Given the description of an element on the screen output the (x, y) to click on. 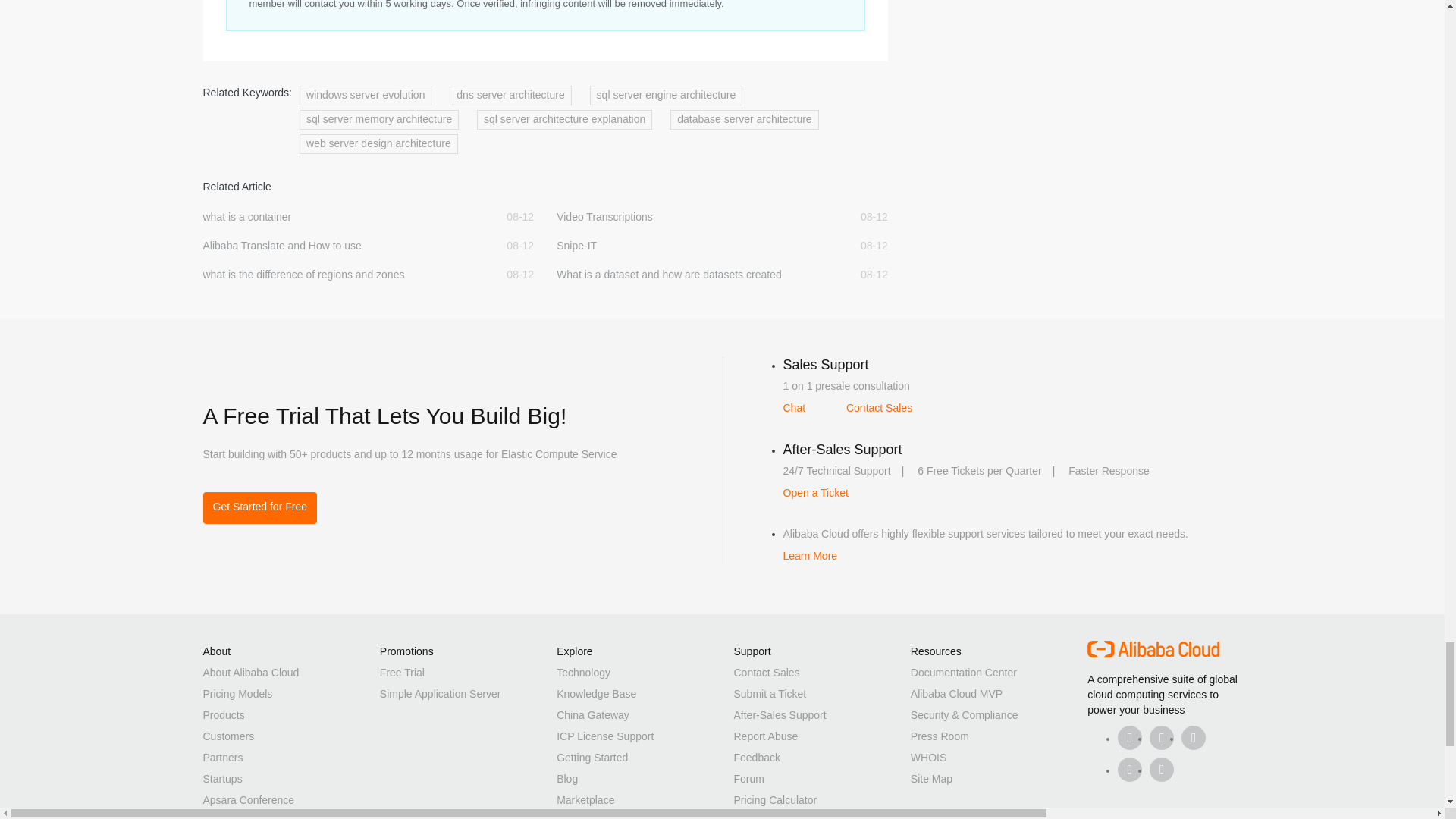
sql server memory architecture (378, 119)
Snipe-IT (688, 246)
database server architecture (743, 119)
sql server engine architecture (665, 95)
windows server evolution (364, 95)
Alibaba Translate and How to use (335, 246)
what is the difference of regions and zones (335, 274)
sql server architecture explanation (564, 119)
web server design architecture (378, 143)
What is a dataset and how are datasets created (688, 274)
dns server architecture (509, 95)
what is a container (335, 217)
Video Transcriptions (688, 217)
